Given the description of an element on the screen output the (x, y) to click on. 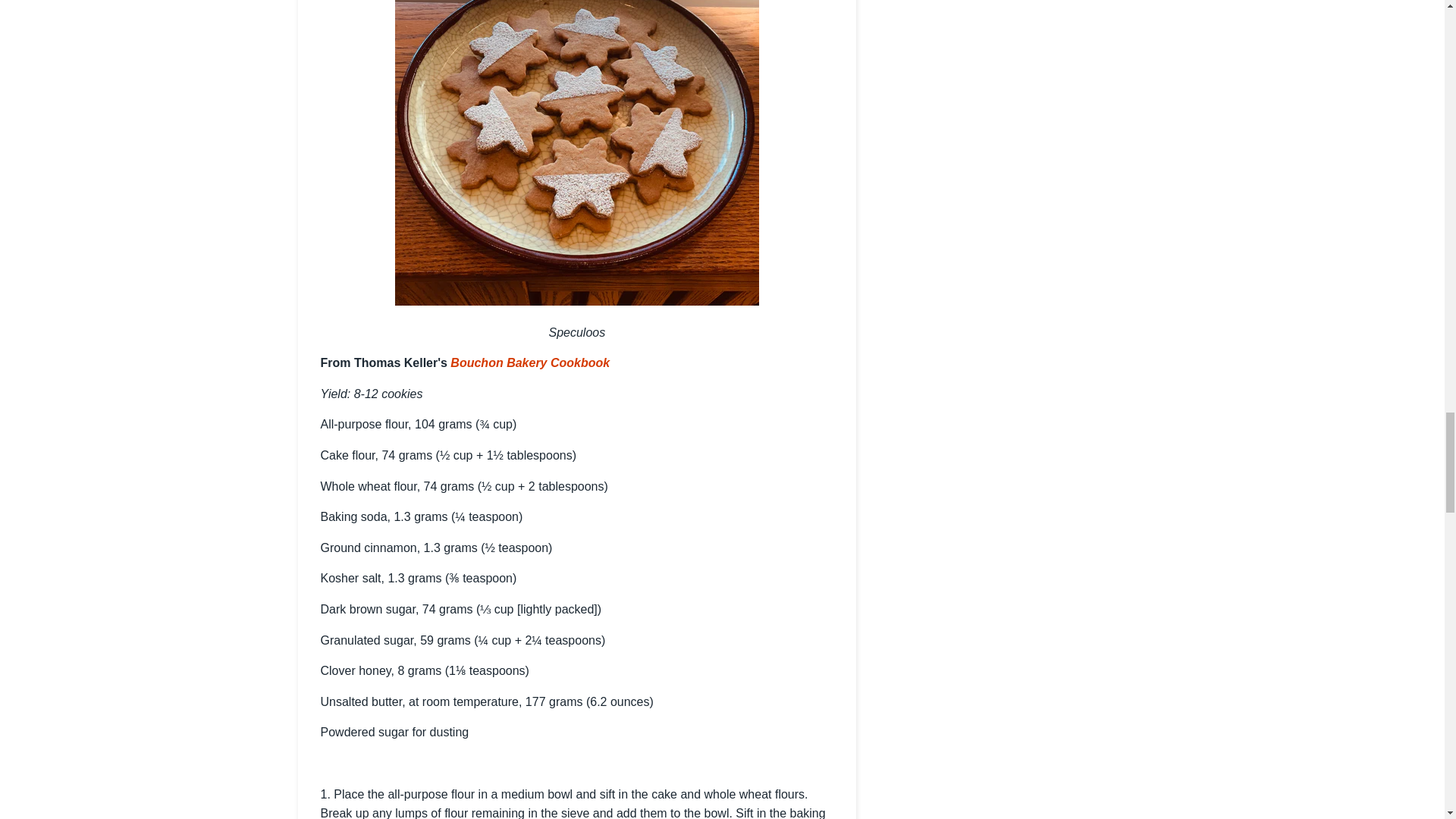
Bouchon Bakery Cookbook (529, 362)
